Given the description of an element on the screen output the (x, y) to click on. 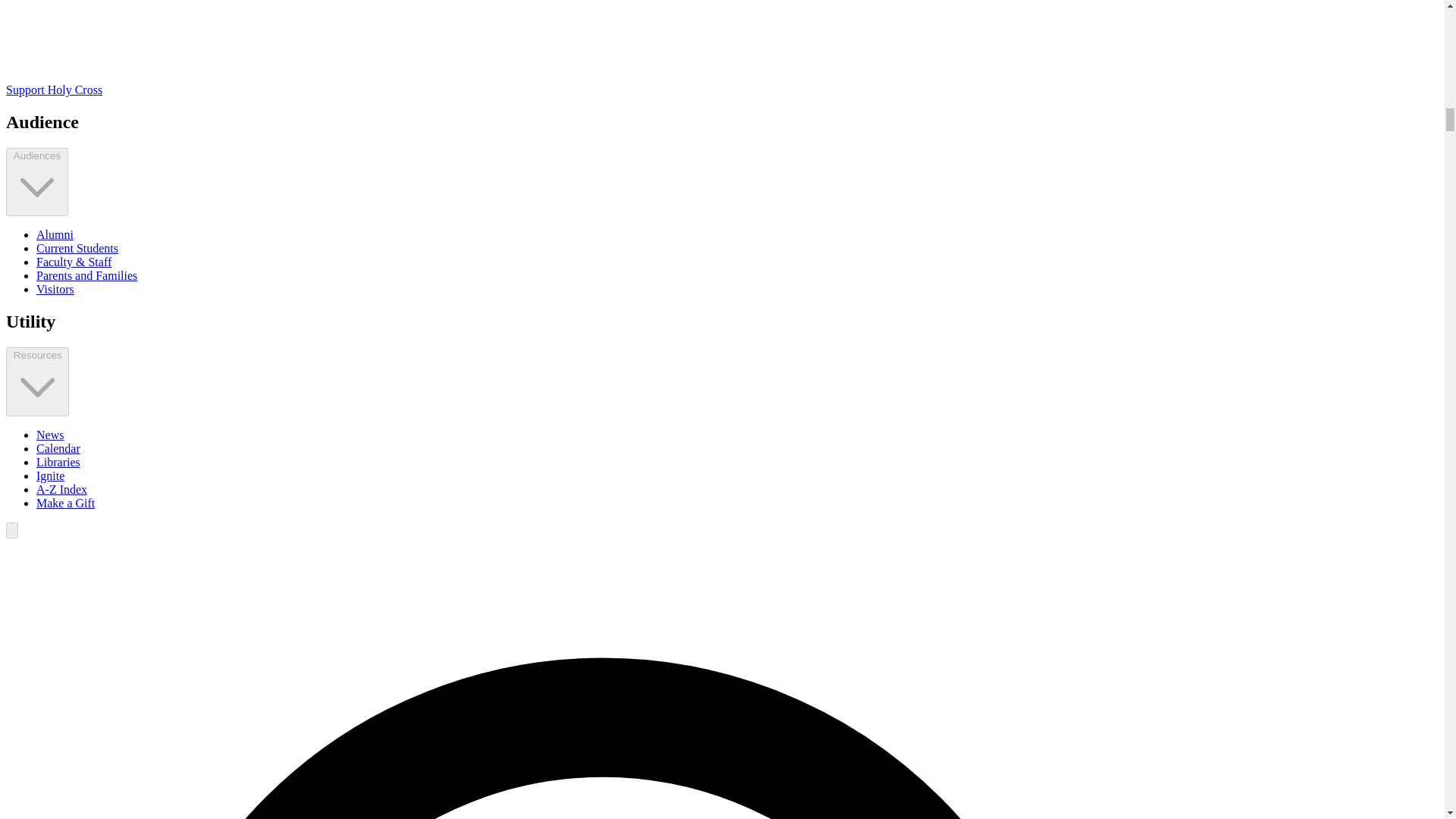
Ignite (50, 475)
Parents and Families (86, 275)
A-Z Index (61, 489)
Audiences (36, 182)
Calendar (58, 448)
Alumni (55, 234)
Libraries (58, 461)
Make a Gift (65, 502)
Visitors (55, 288)
Current Students (76, 247)
